Given the description of an element on the screen output the (x, y) to click on. 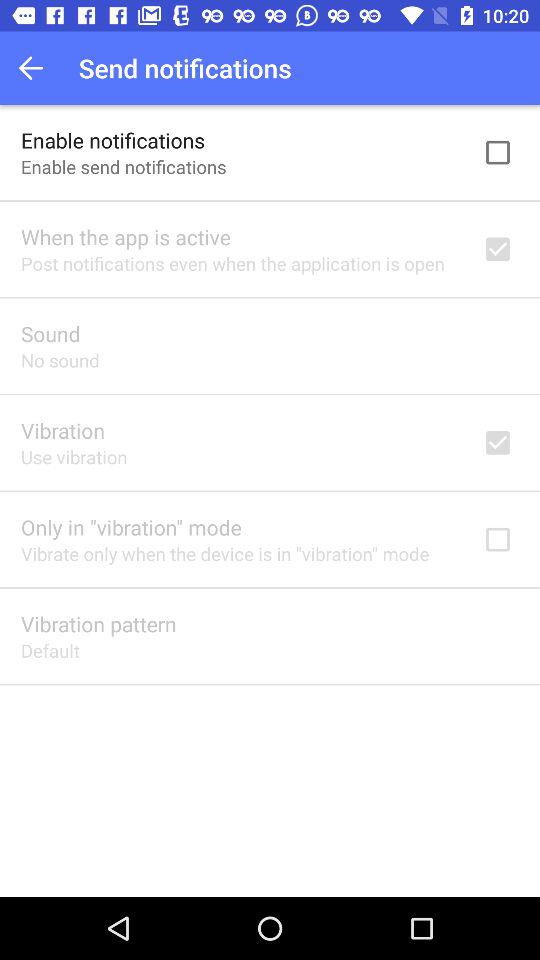
jump to the vibration pattern item (98, 623)
